Given the description of an element on the screen output the (x, y) to click on. 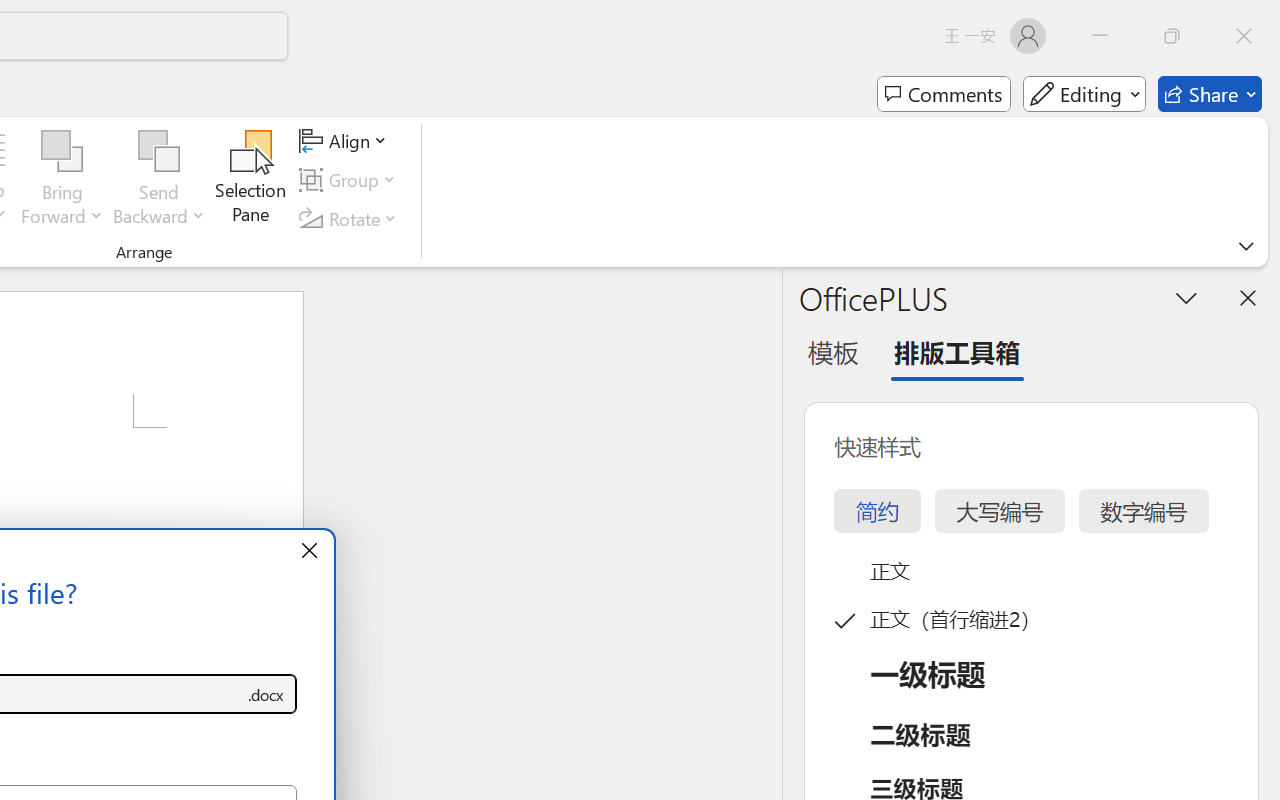
Rotate (351, 218)
Bring Forward (62, 179)
Send Backward (159, 151)
Save as type (265, 694)
Group (351, 179)
